Given the description of an element on the screen output the (x, y) to click on. 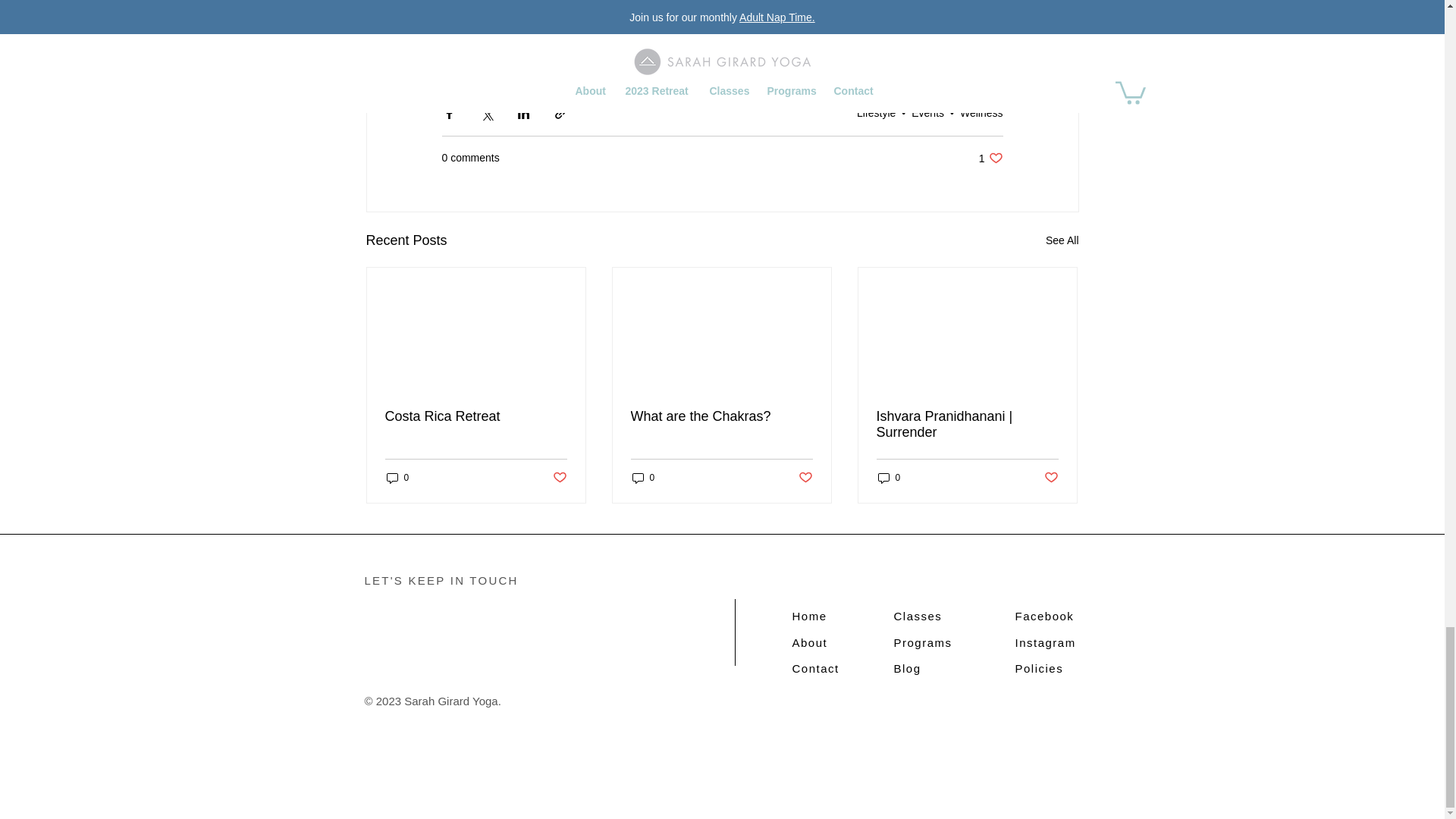
What are the Chakras? (721, 416)
Post not marked as liked (804, 478)
Post not marked as liked (558, 478)
Events (927, 112)
Costa Rica Retreat (476, 416)
Lifestyle (990, 157)
0 (876, 112)
Wellness (643, 477)
See All (981, 112)
